Given the description of an element on the screen output the (x, y) to click on. 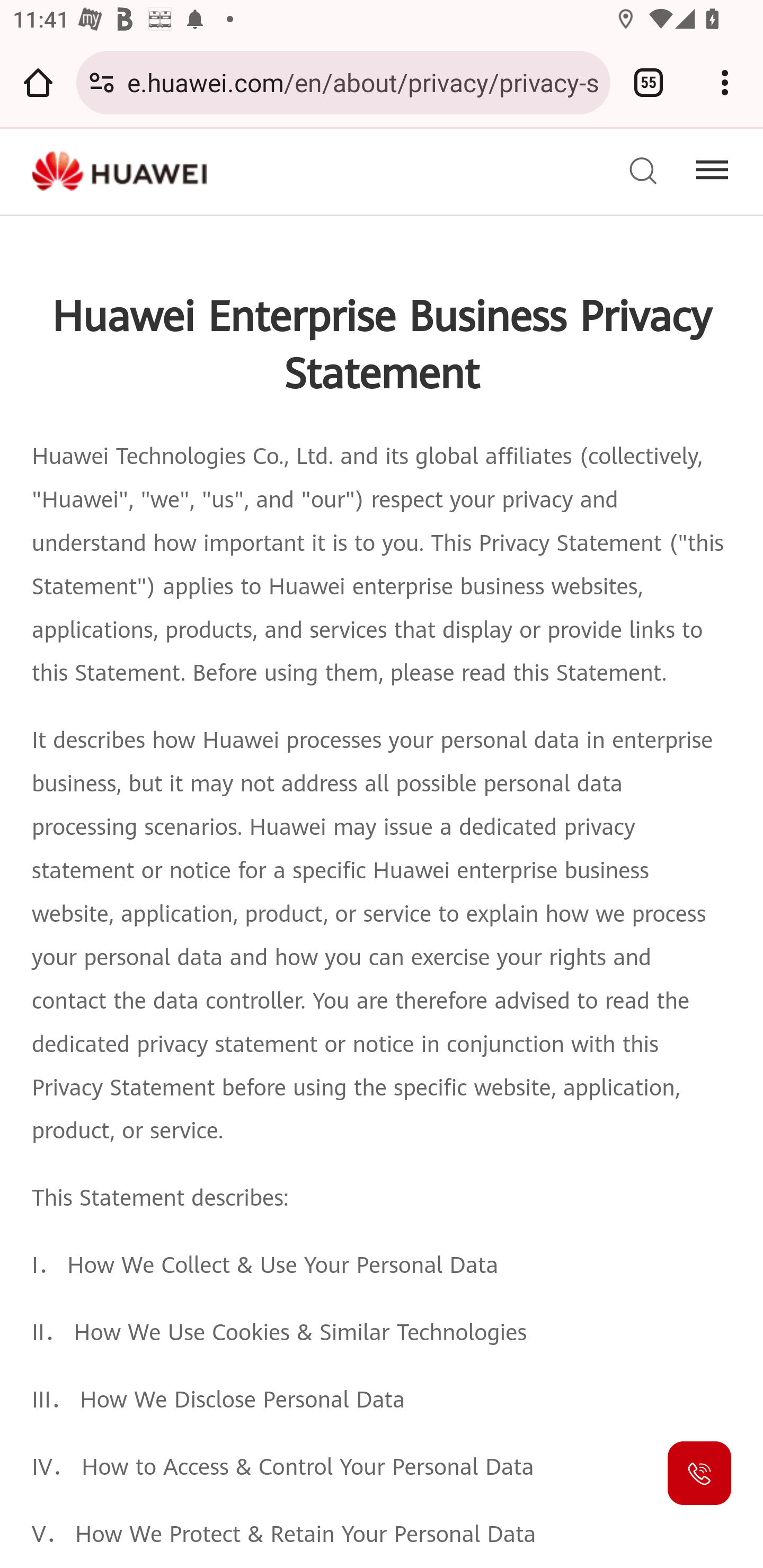
Open the home page (38, 82)
Connection is secure (101, 82)
Switch or close tabs (648, 82)
Customize and control Google Chrome (724, 82)
e.huawei.com/en/about/privacy/privacy-statement (362, 82)
